Given the description of an element on the screen output the (x, y) to click on. 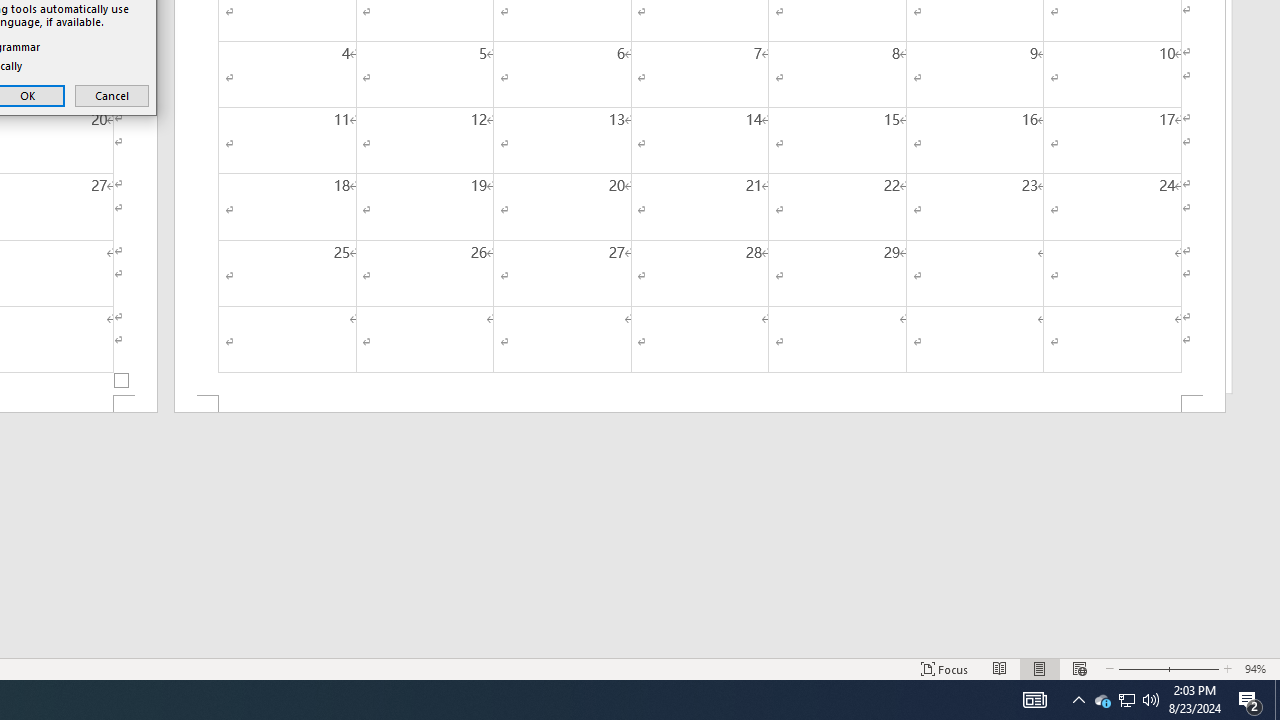
Read Mode (1000, 668)
User Promoted Notification Area (1126, 699)
Action Center, 2 new notifications (1250, 699)
Web Layout (1079, 668)
Focus  (944, 668)
